Given the description of an element on the screen output the (x, y) to click on. 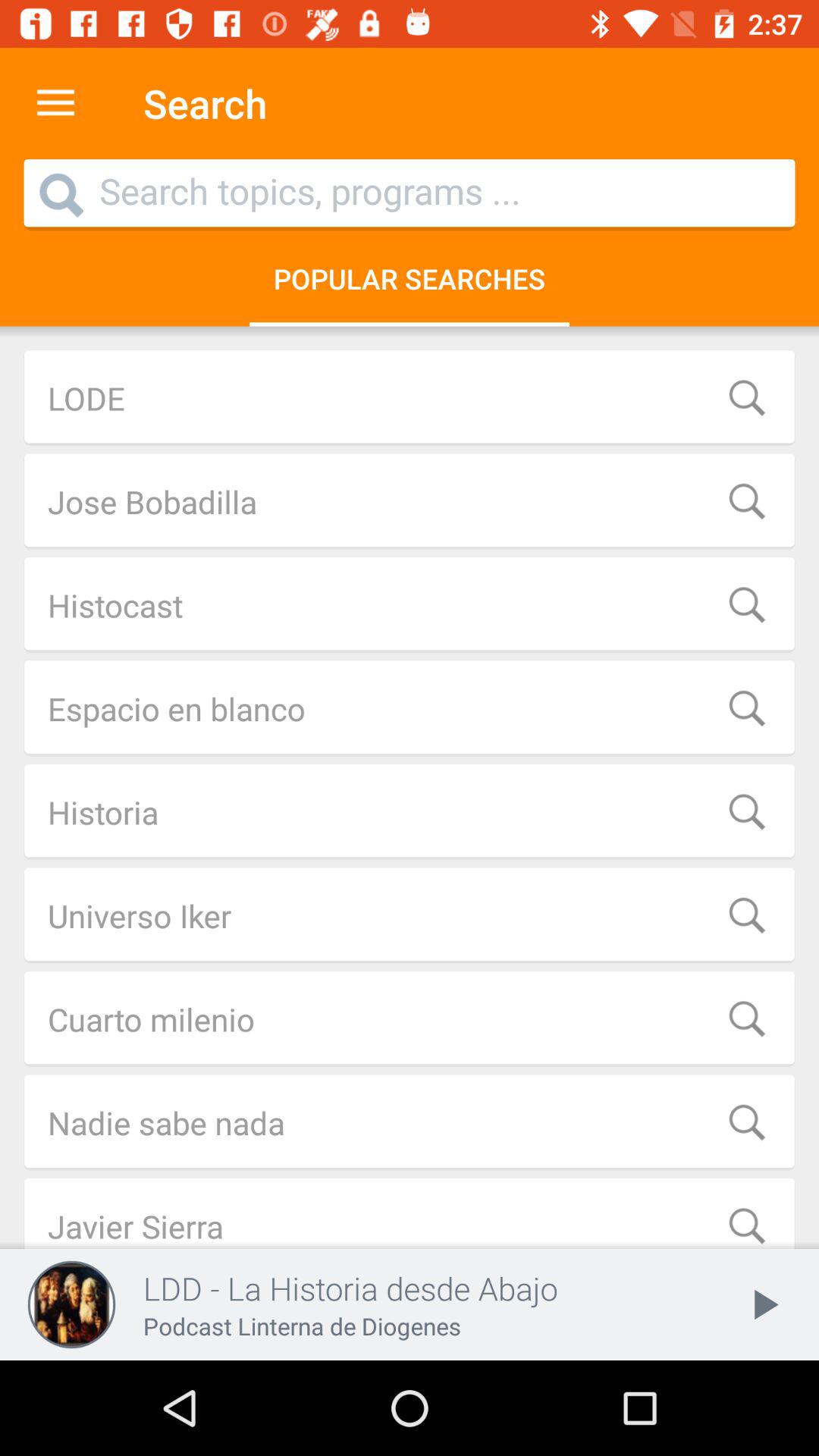
click icon to the right of ldd la historia (763, 1304)
